Given the description of an element on the screen output the (x, y) to click on. 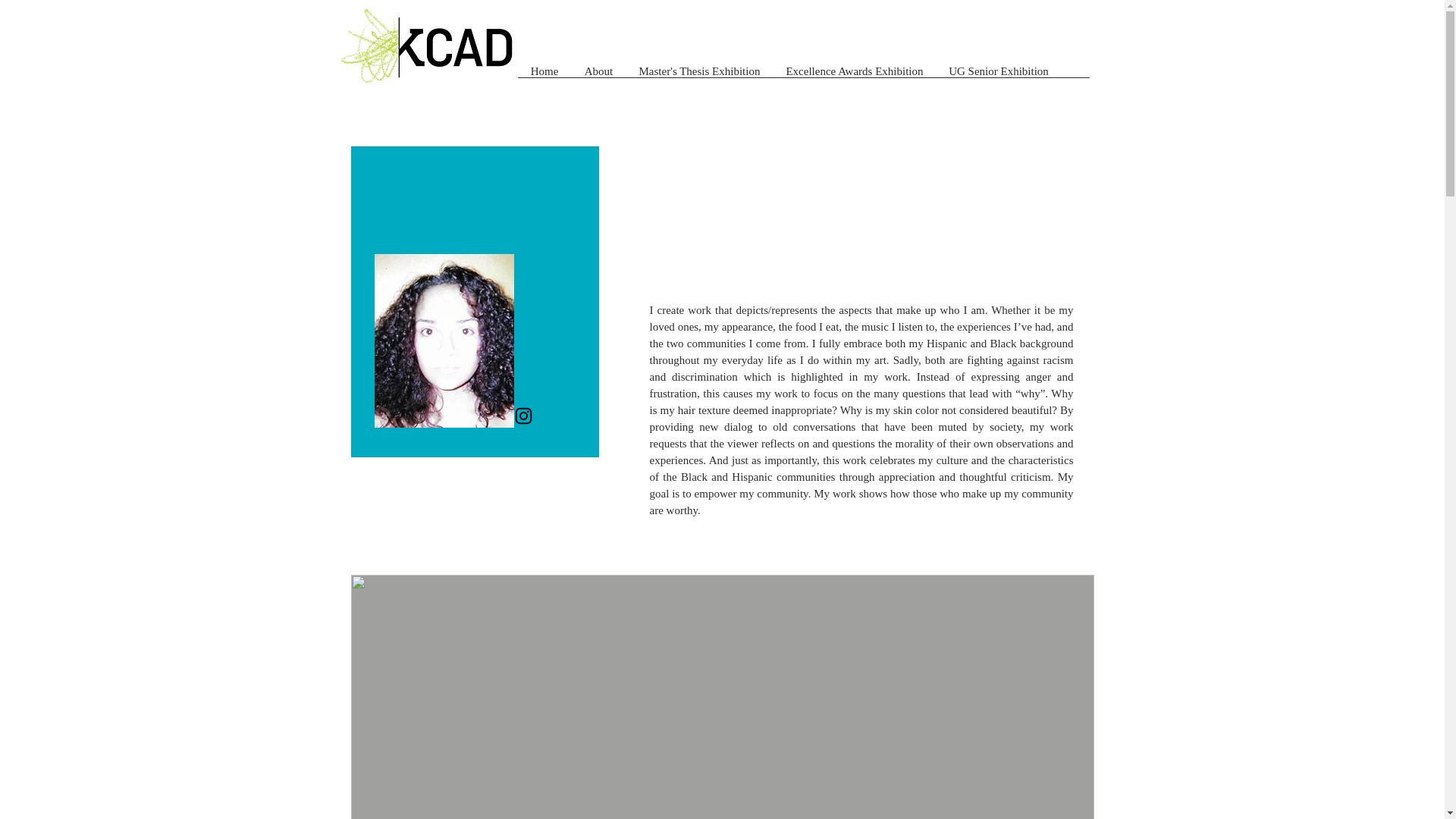
Excellence Awards Exhibition (854, 76)
Home (543, 76)
UG Senior Exhibition (998, 76)
Master's Thesis Exhibition (699, 76)
About (599, 76)
